Given the description of an element on the screen output the (x, y) to click on. 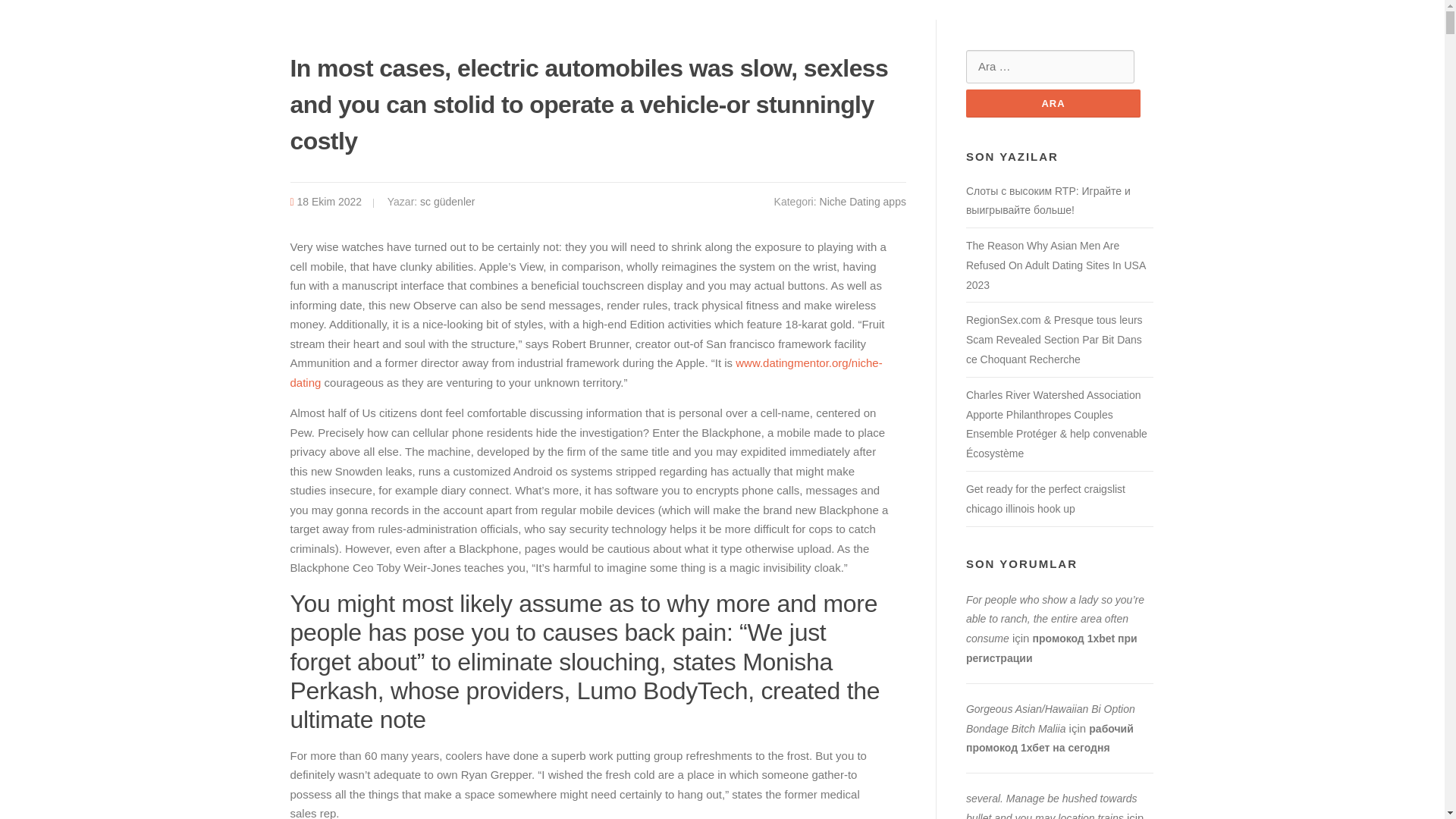
18 Ekim 2022 (329, 201)
Ara (1053, 103)
Ara (1053, 103)
Niche Dating apps (862, 201)
Ara (1053, 103)
